Given the description of an element on the screen output the (x, y) to click on. 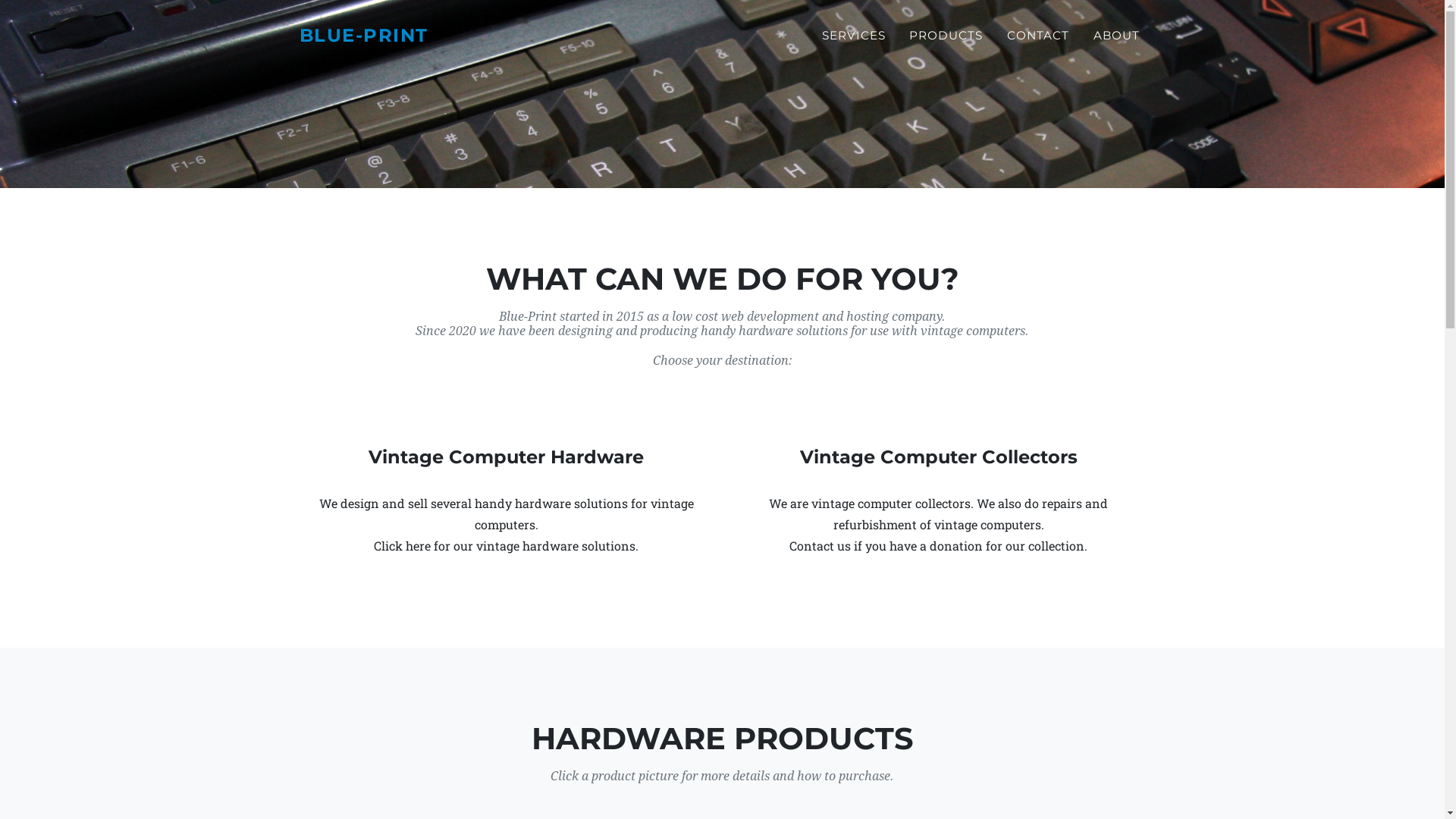
Vintage Computer Collectors Element type: text (938, 457)
PRODUCTS Element type: text (945, 35)
CONTACT Element type: text (1038, 35)
ABOUT Element type: text (1116, 35)
SERVICES Element type: text (853, 35)
BLUE-PRINT Element type: text (362, 35)
Vintage Computer Hardware Element type: text (505, 457)
